Given the description of an element on the screen output the (x, y) to click on. 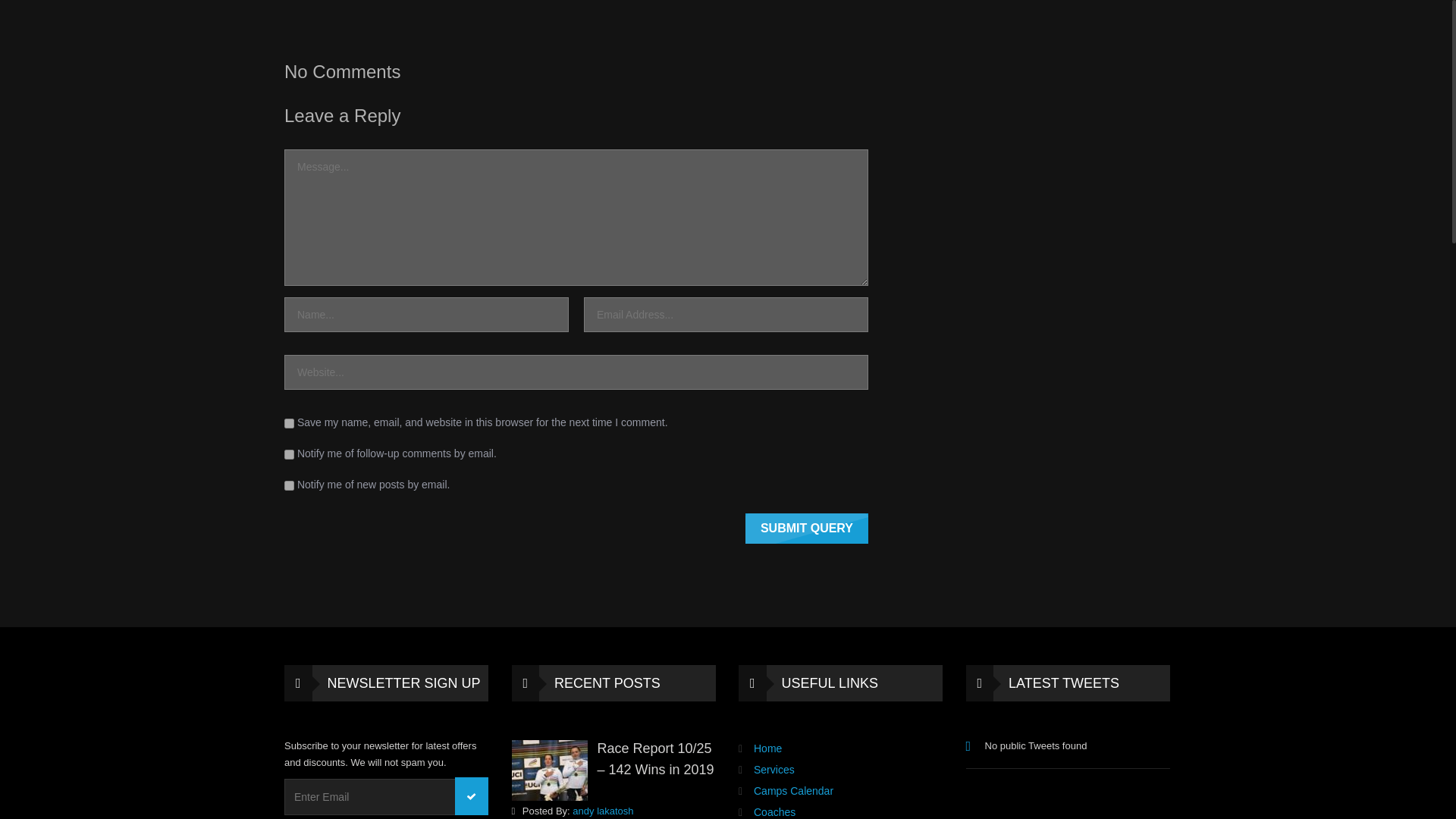
Submit Query (806, 528)
